Given the description of an element on the screen output the (x, y) to click on. 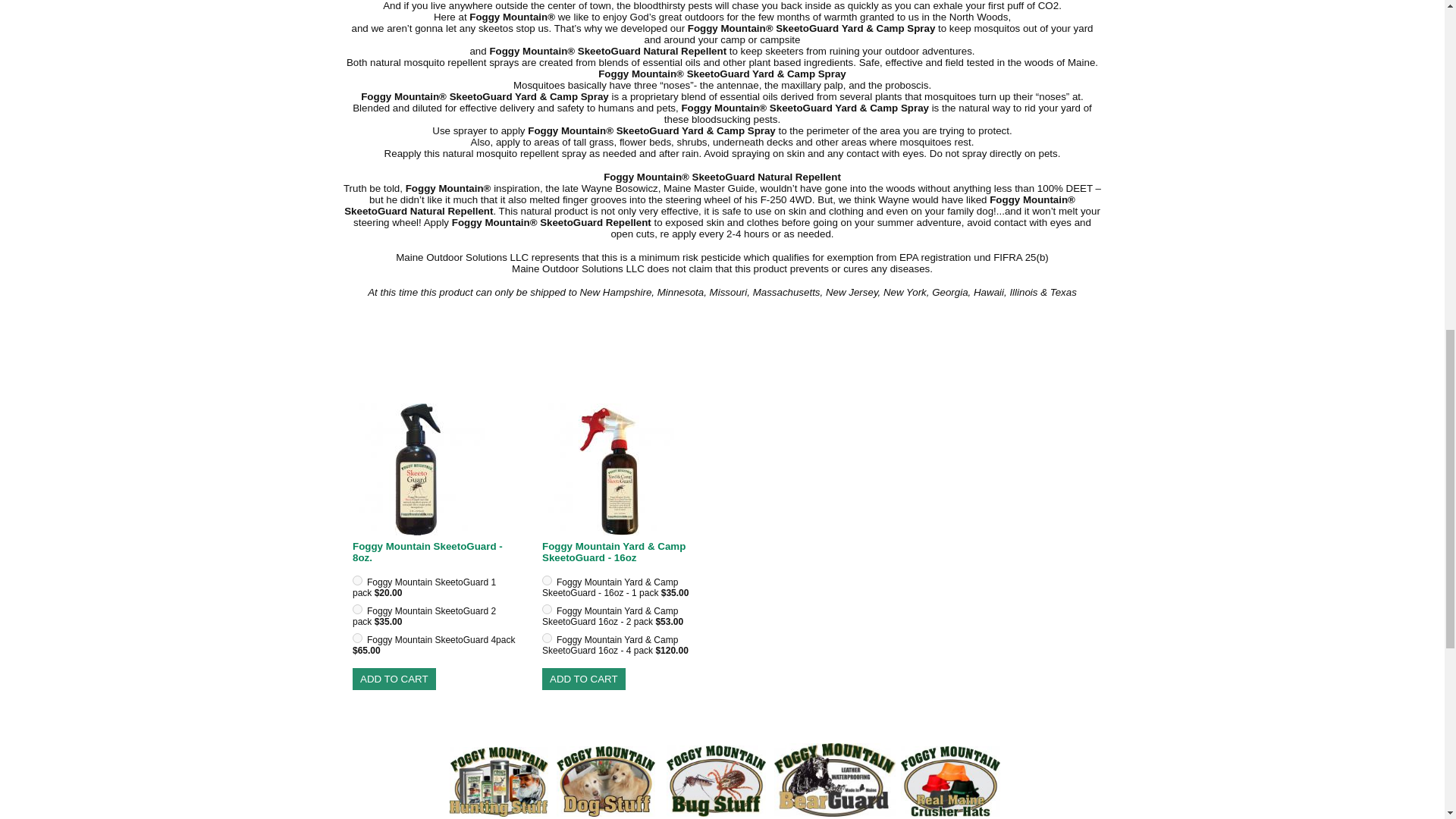
567 (546, 637)
570 (546, 609)
Add To Cart (393, 679)
565 (357, 637)
Add To Cart (583, 679)
575 (357, 580)
576 (546, 580)
Foggy Mountain SkeetoGuard Natural Mosquito Repellent (437, 470)
568 (357, 609)
